Given the description of an element on the screen output the (x, y) to click on. 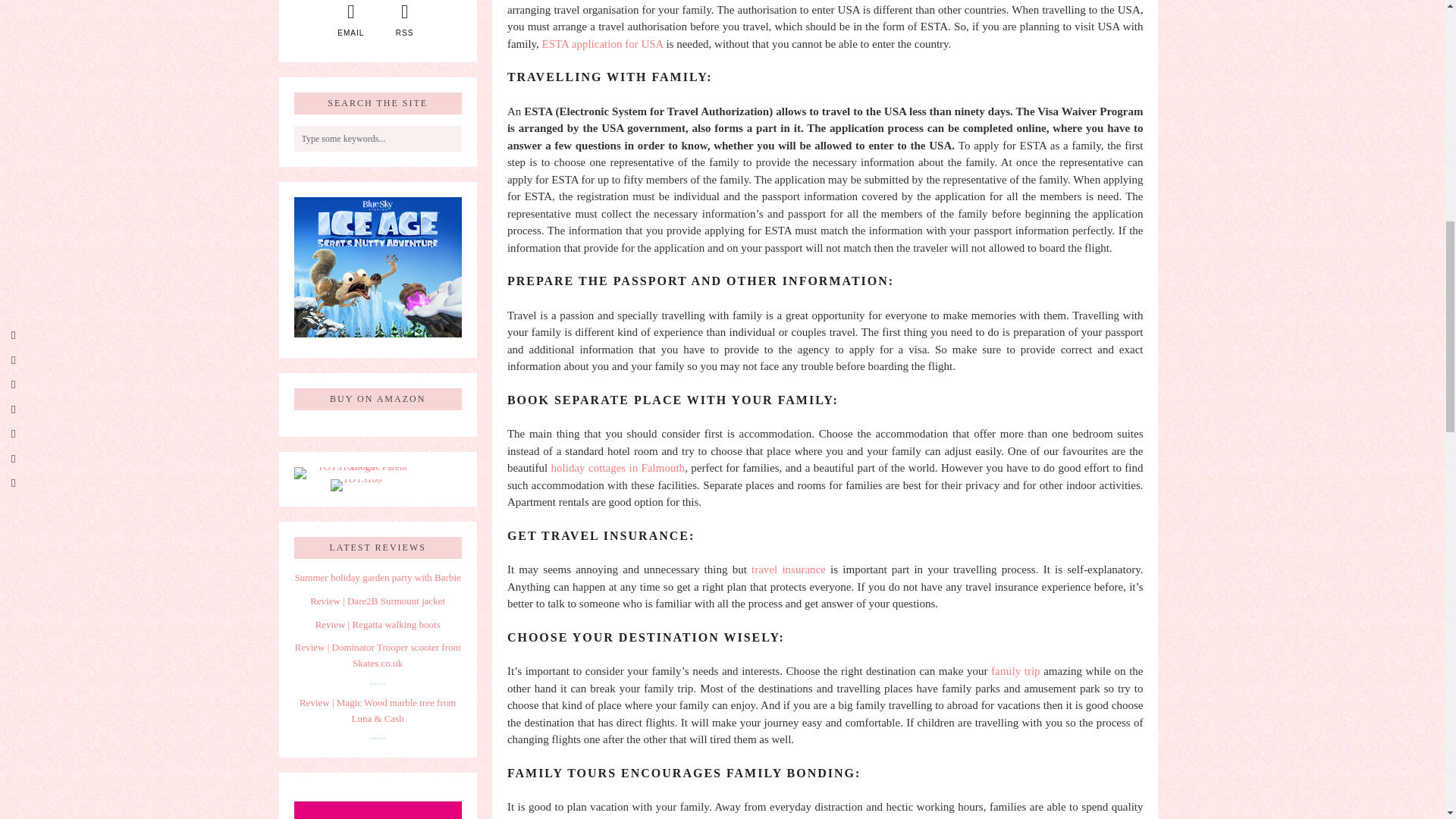
holiday cottages in Falmouth (618, 467)
ESTA application for USA (602, 43)
travel insurance (788, 569)
